Given the description of an element on the screen output the (x, y) to click on. 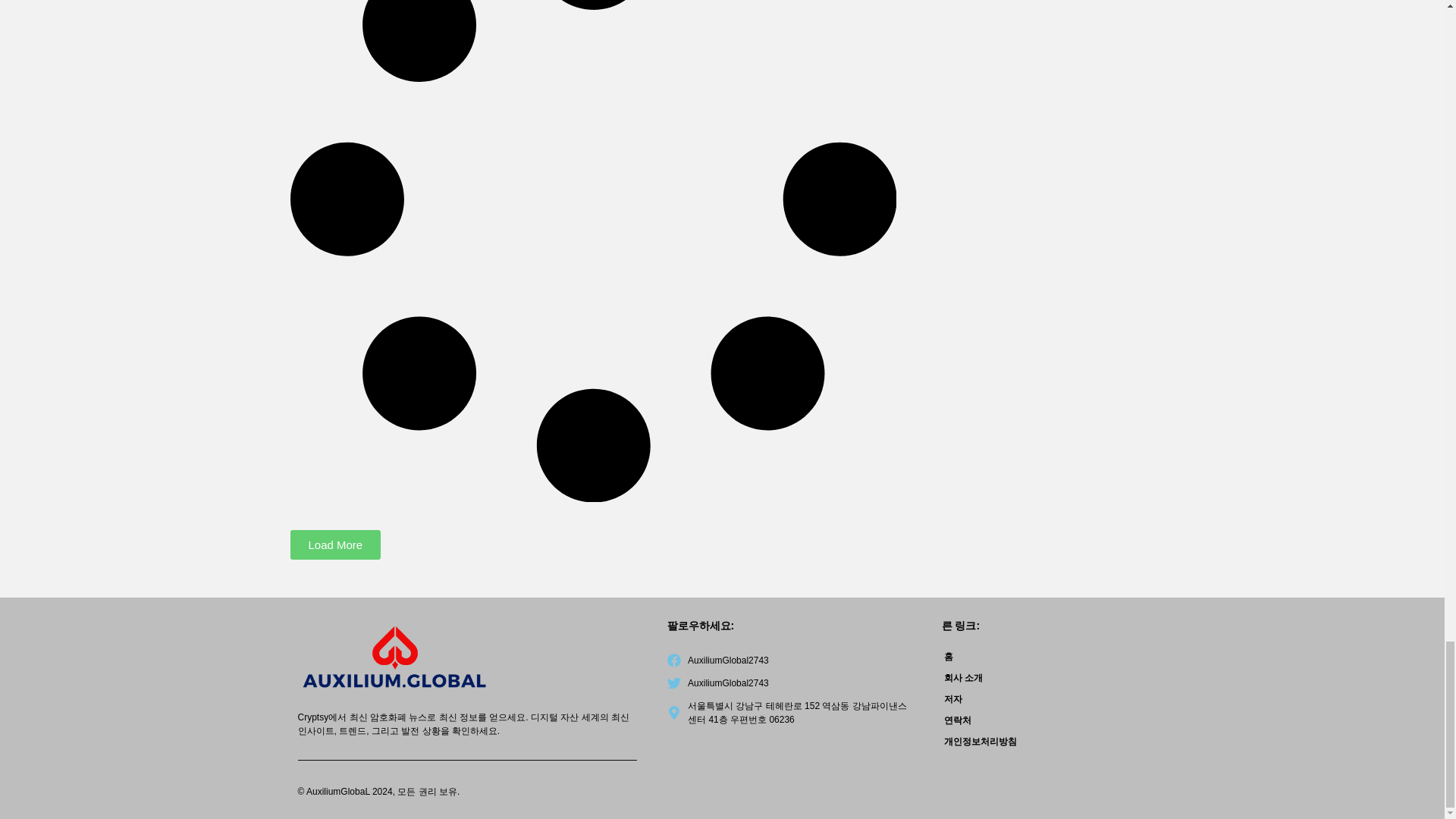
Load More (334, 544)
